Given the description of an element on the screen output the (x, y) to click on. 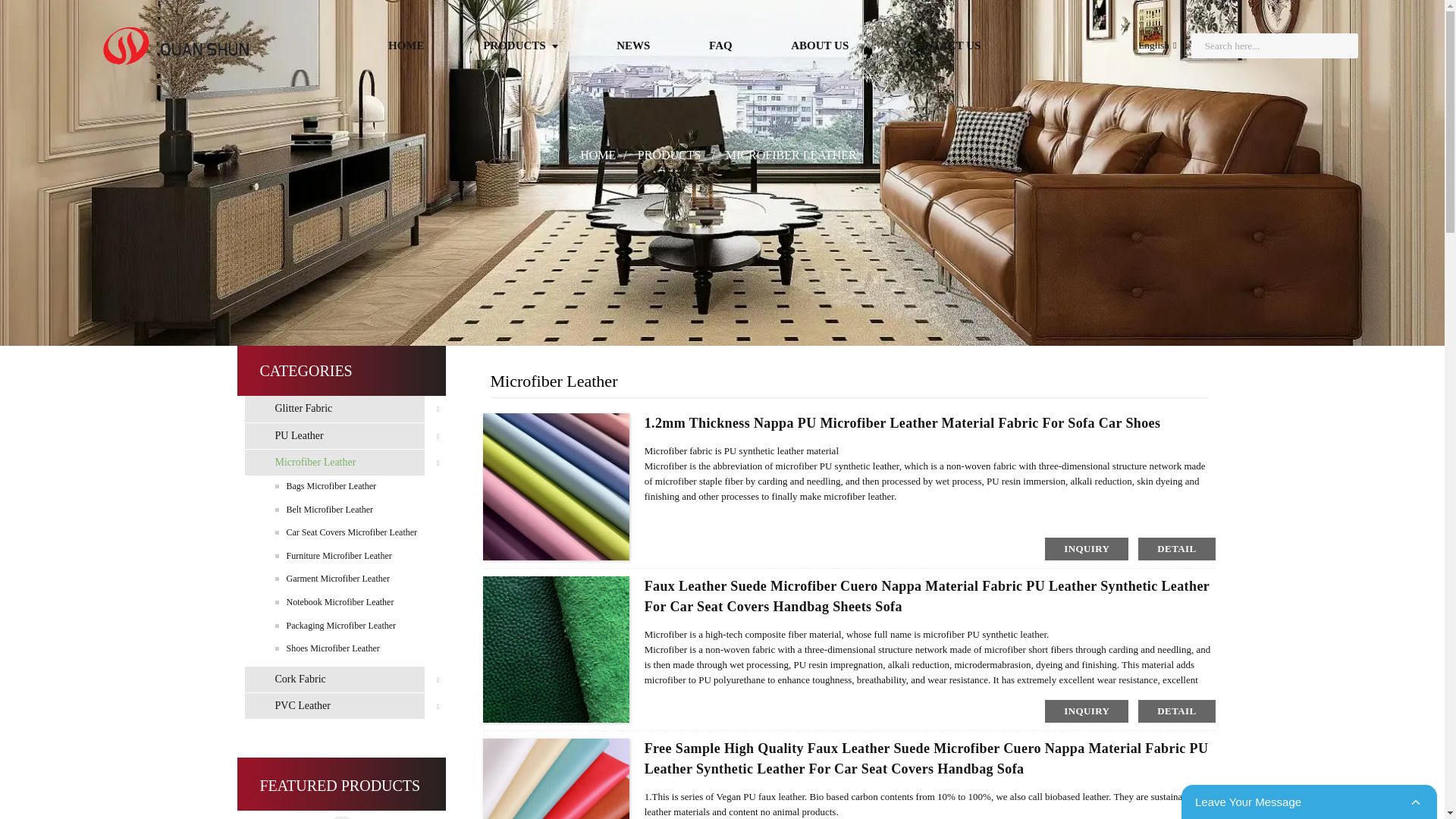
PRODUCTS (520, 45)
HOME (406, 45)
